Given the description of an element on the screen output the (x, y) to click on. 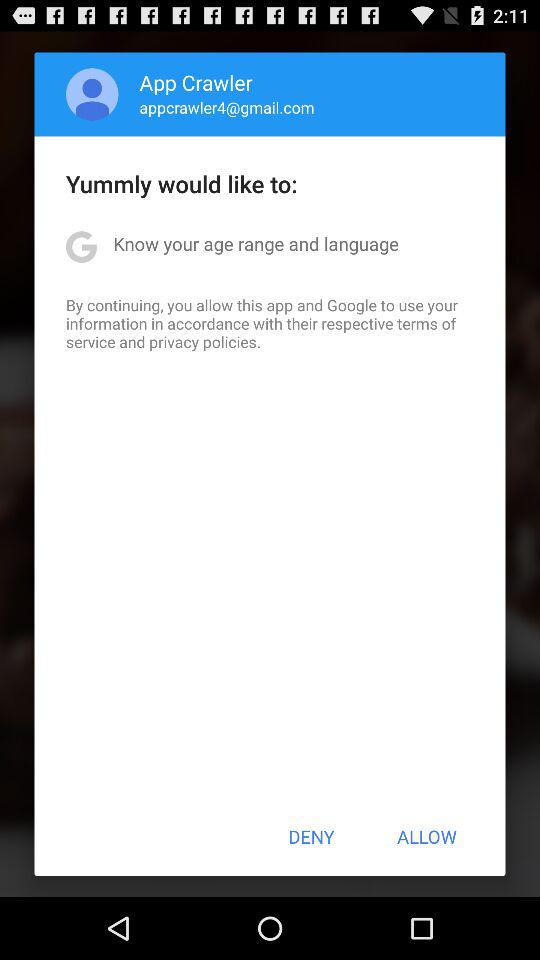
scroll to appcrawler4@gmail.com item (226, 107)
